Given the description of an element on the screen output the (x, y) to click on. 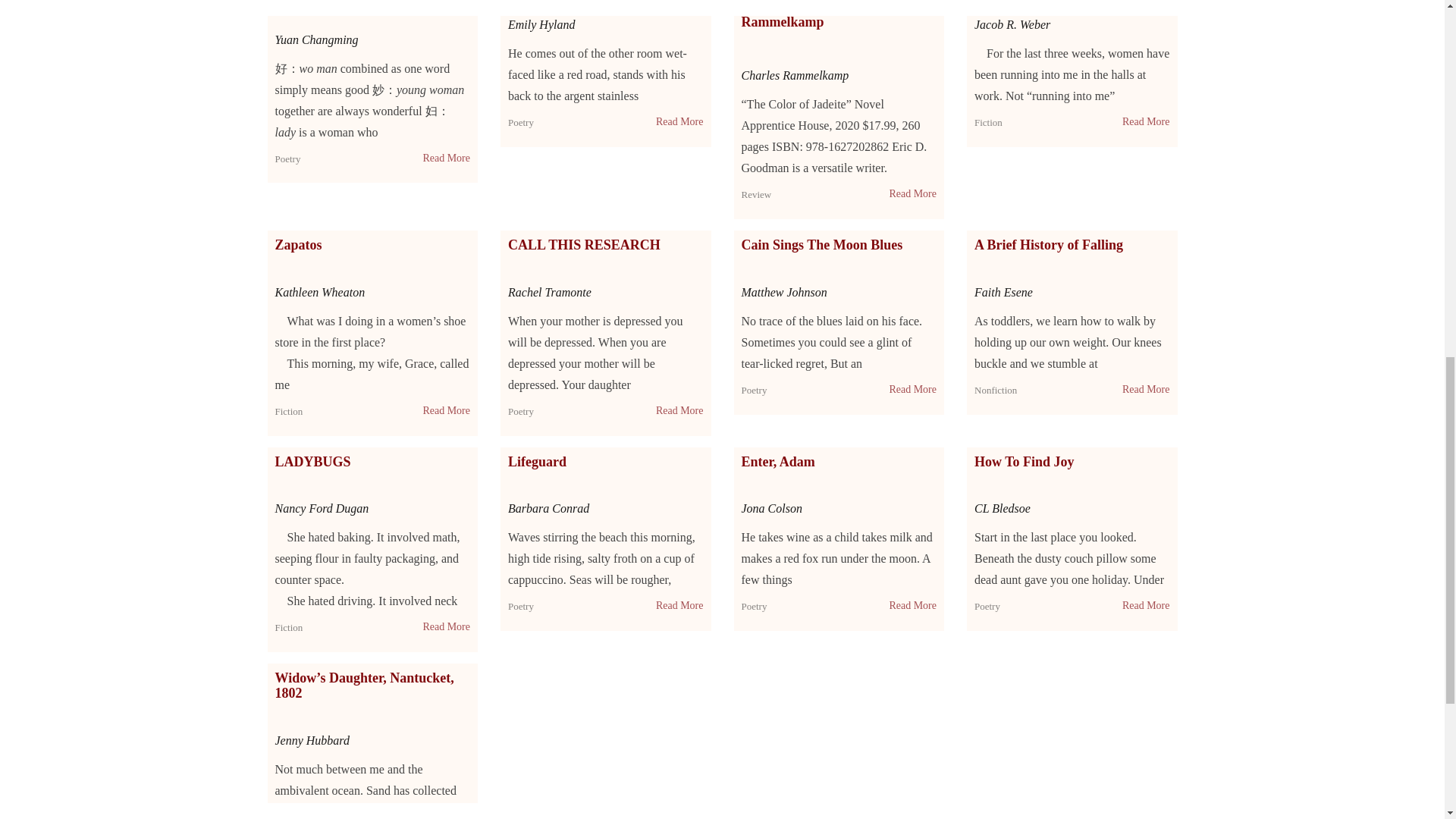
Poetry (521, 122)
Poetry (287, 158)
Read More (912, 193)
Read More (679, 121)
Poetry (521, 122)
Read More (446, 158)
Fiction (988, 122)
Review (756, 194)
Review (756, 194)
Poetry (287, 158)
